Given the description of an element on the screen output the (x, y) to click on. 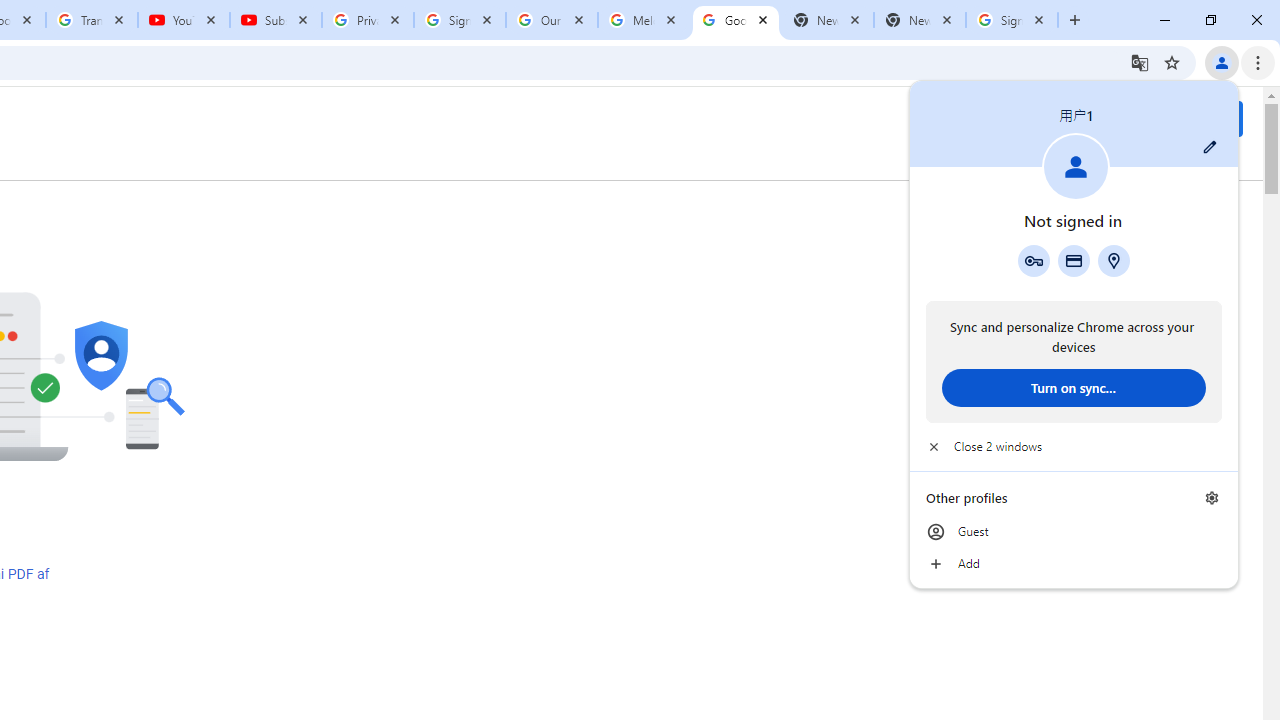
Subscriptions - YouTube (276, 20)
Guest (1073, 531)
Customize profile (1210, 147)
New Tab (920, 20)
Translate this page (1139, 62)
Manage profiles (1211, 498)
Add (1073, 563)
Google Password Manager (1033, 260)
